Given the description of an element on the screen output the (x, y) to click on. 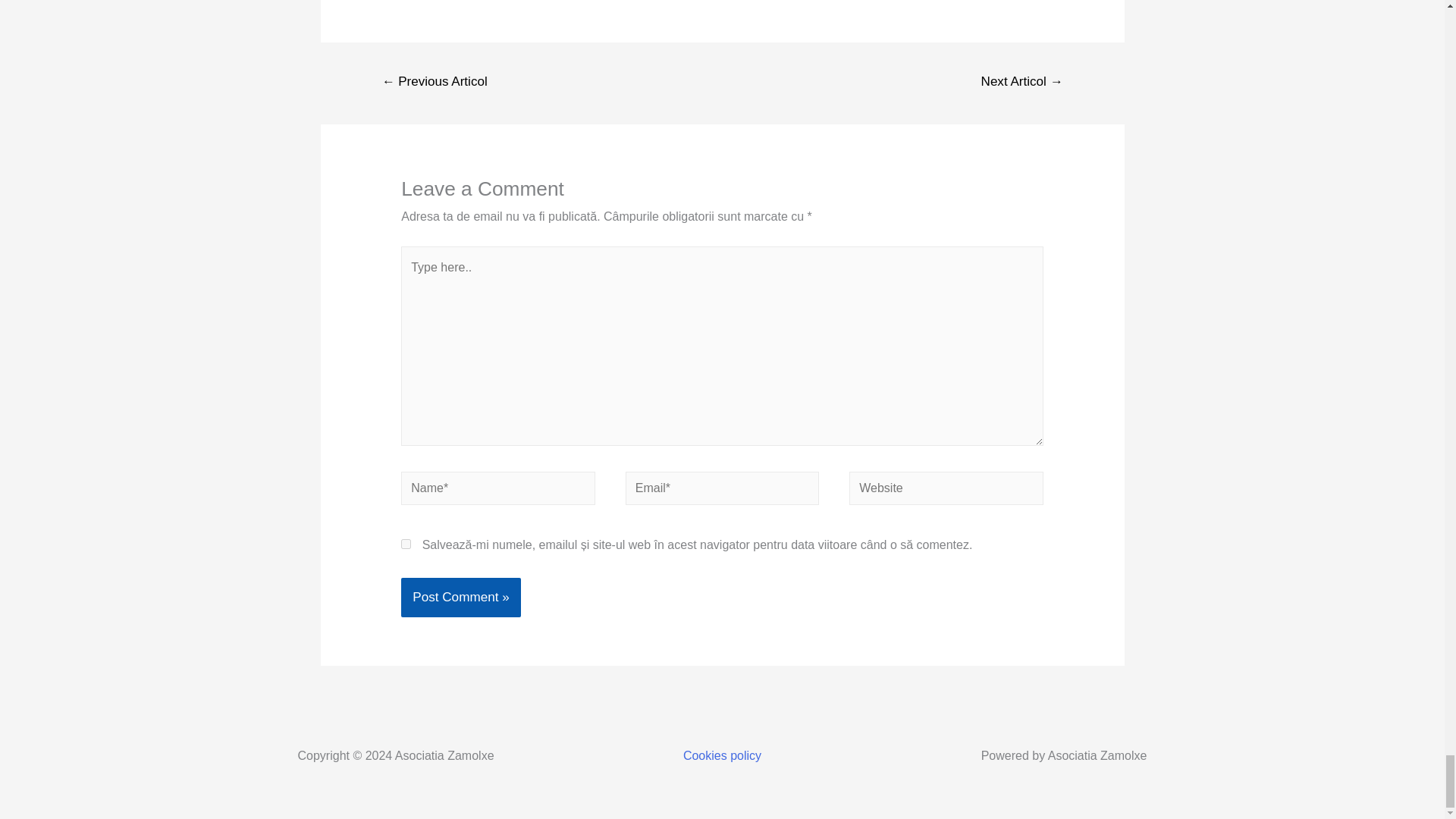
yes (405, 543)
